Given the description of an element on the screen output the (x, y) to click on. 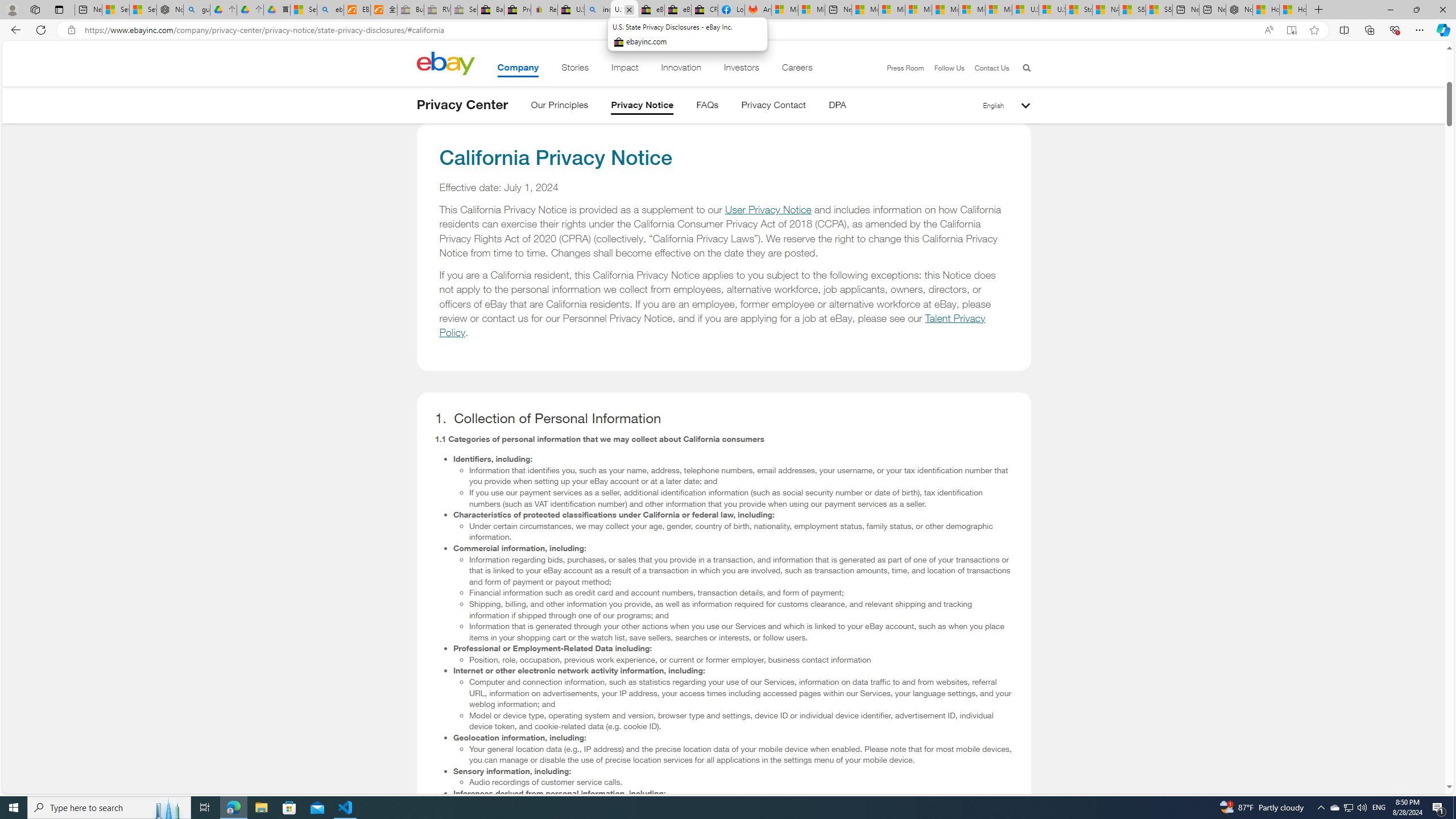
Privacy Center (462, 104)
Log into Facebook (731, 9)
